Given the description of an element on the screen output the (x, y) to click on. 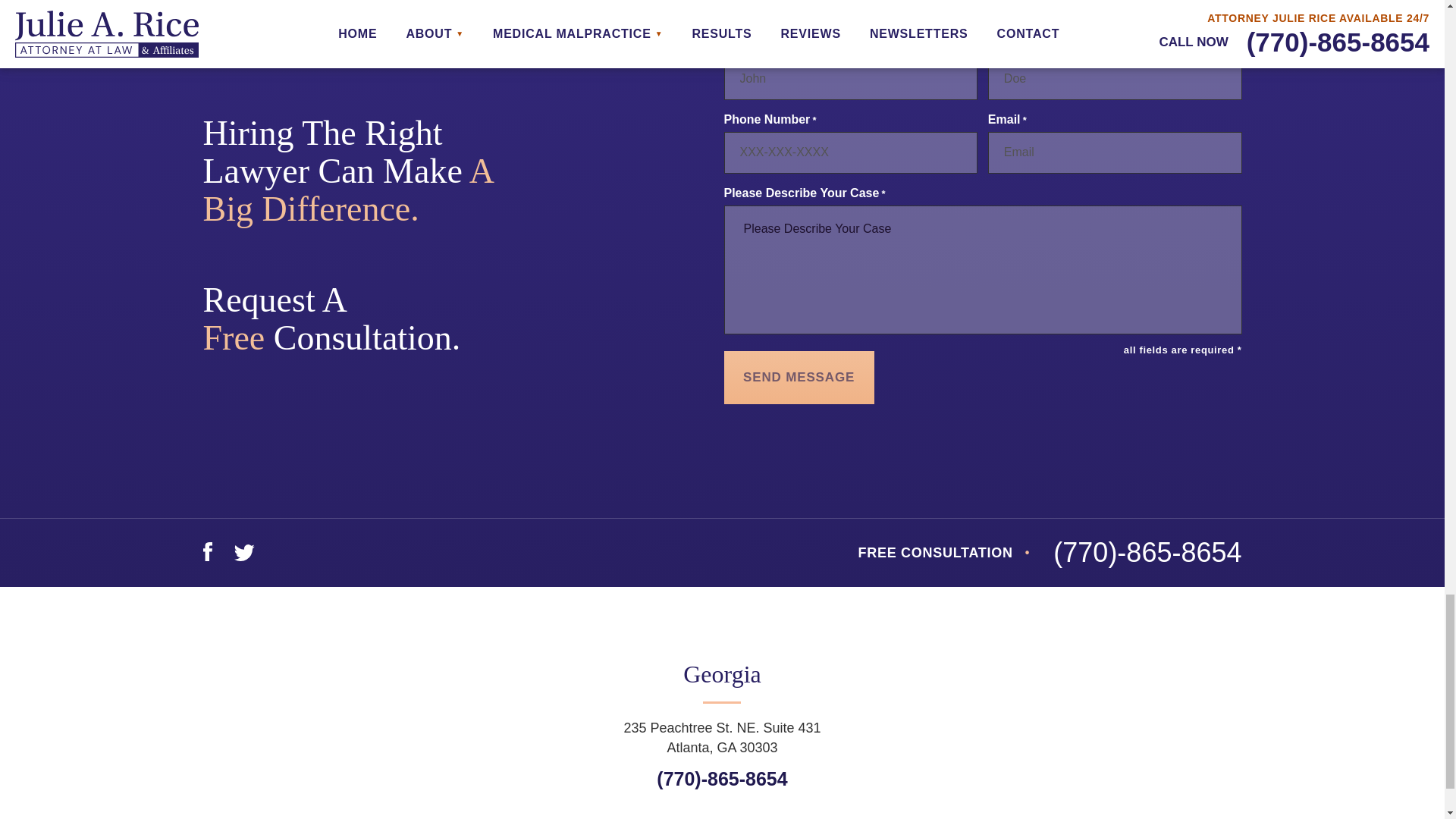
Send Message (798, 377)
